Given the description of an element on the screen output the (x, y) to click on. 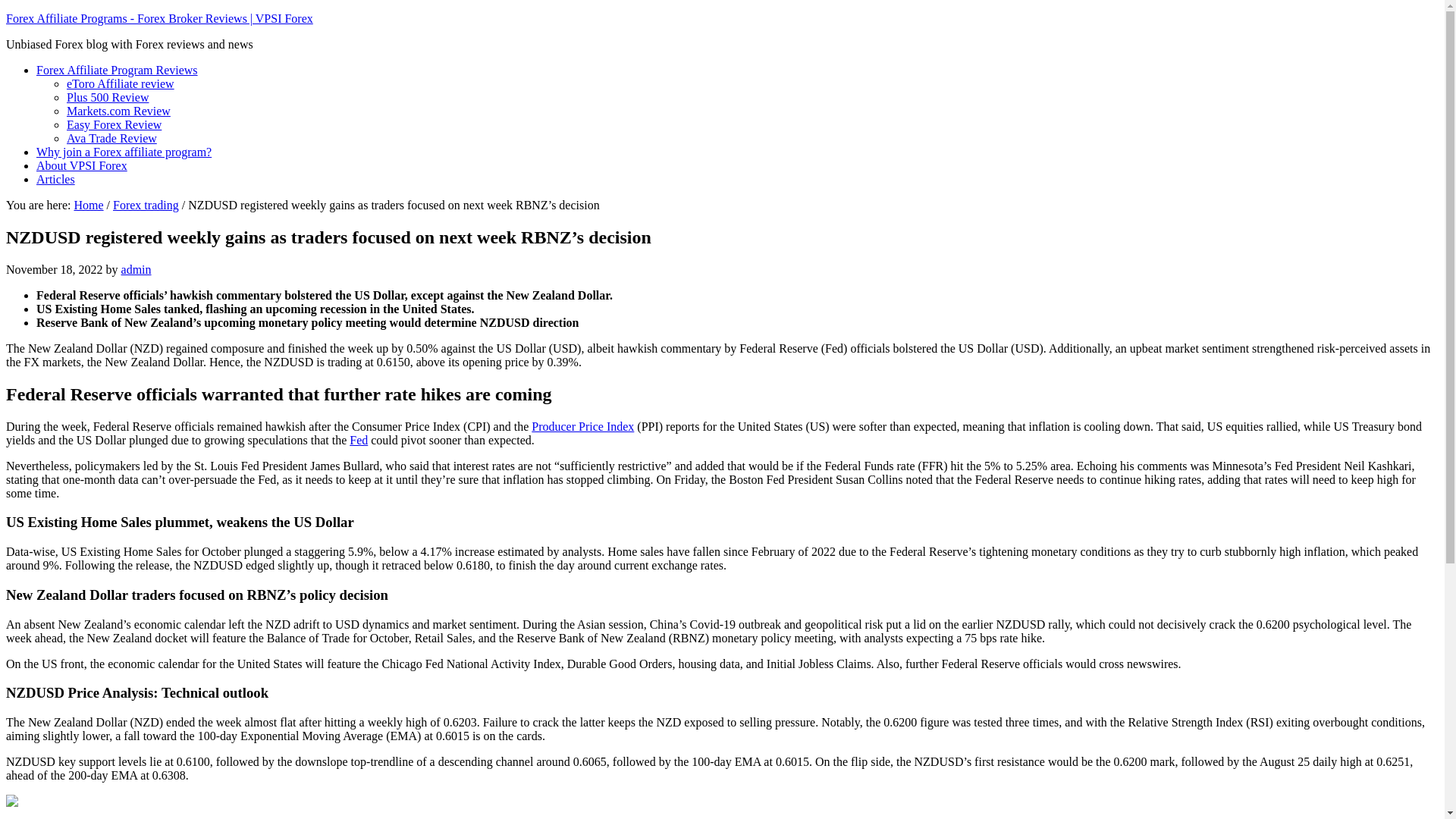
Plus 500 Review (107, 97)
Ava Trade Review (111, 137)
Markets.com Review (118, 110)
Easy Forex Review (113, 124)
Articles (55, 178)
Producer Price Index (582, 426)
Why join a Forex affiliate program? (123, 151)
Fed (358, 440)
Forex trading (146, 205)
About VPSI Forex (82, 164)
Home (88, 205)
admin (135, 269)
eToro Affiliate review (120, 83)
Forex Affiliate Program Reviews (117, 69)
